Given the description of an element on the screen output the (x, y) to click on. 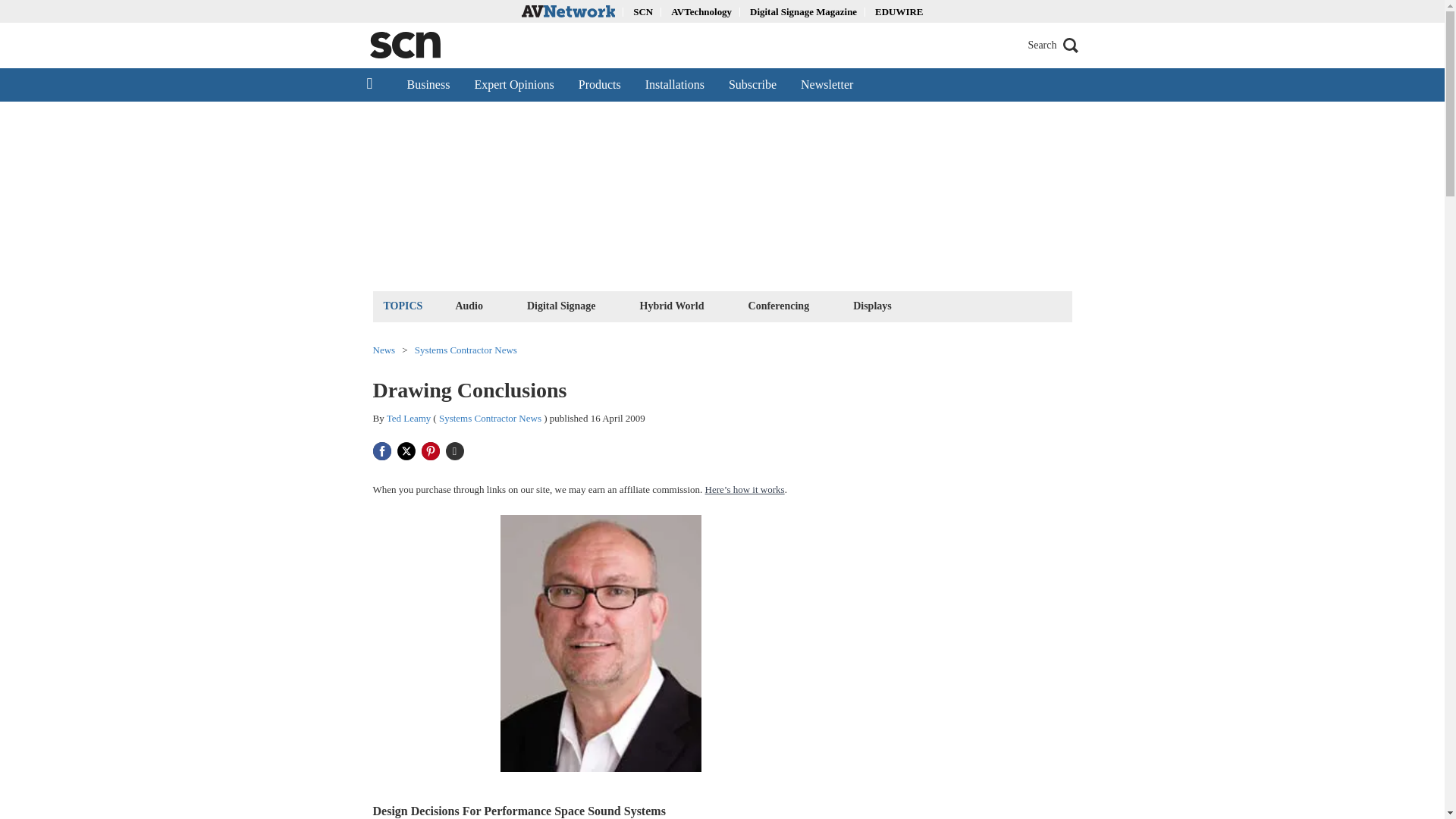
Newsletter (826, 84)
Displays (871, 305)
Hybrid World (672, 305)
Ted Leamy (408, 418)
Systems Contractor News (490, 418)
Expert Opinions (513, 84)
EDUWIRE (899, 11)
SCN (642, 11)
Audio (468, 305)
Systems Contractor News (465, 349)
